Given the description of an element on the screen output the (x, y) to click on. 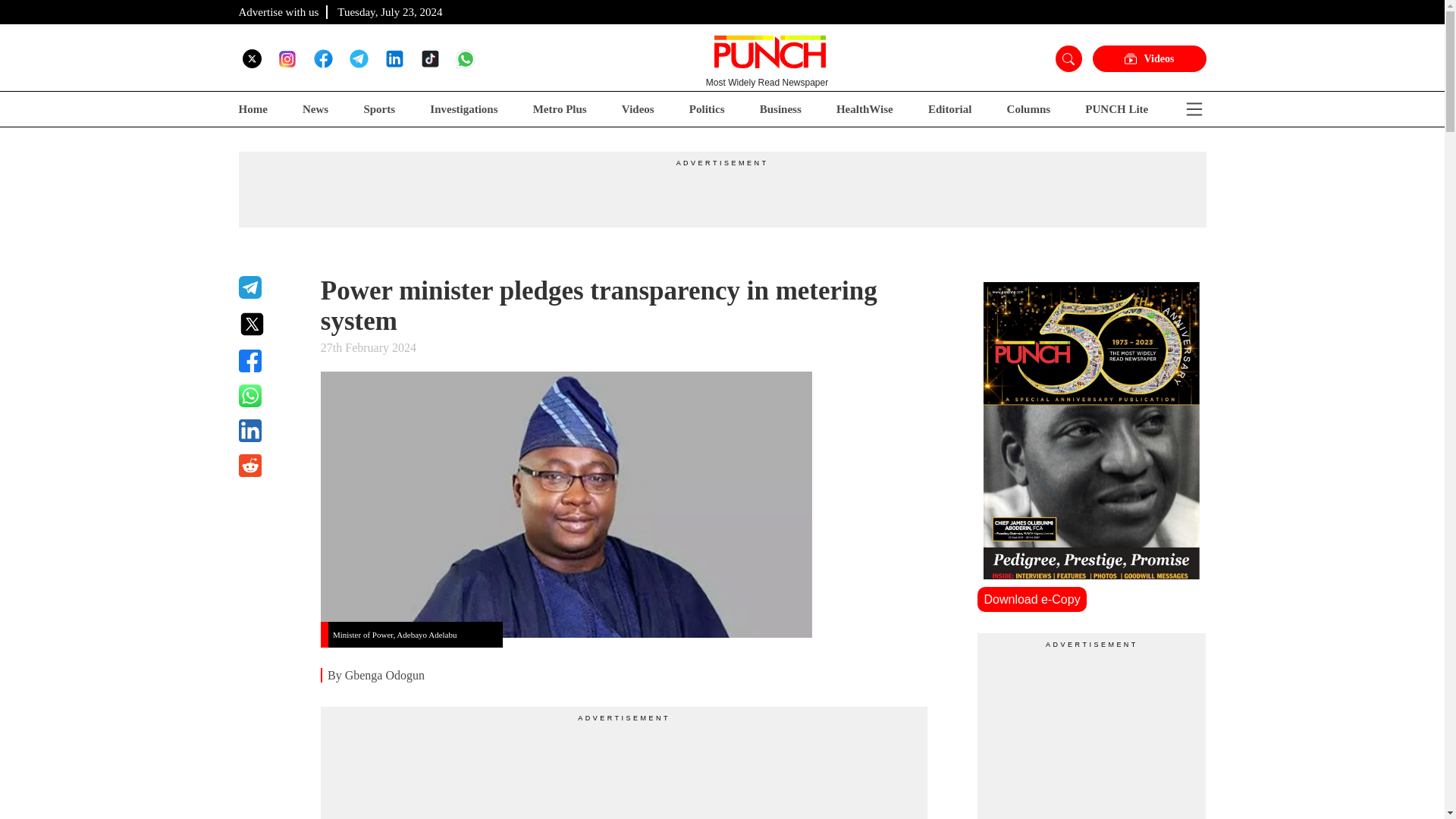
Videos (637, 109)
Share on Reddit (269, 465)
Advertise with us (278, 11)
Share on Facbook (269, 360)
News (315, 109)
Follow Our Channel on Telegram (358, 58)
Follow Us on Instagram (287, 58)
Tuesday, July 23, 2024 (389, 11)
Share on Twitter (269, 324)
Share on Telegram (269, 287)
Business (781, 109)
Investigations (463, 109)
Metro Plus (559, 109)
Follow Us on Facebook (323, 58)
Videos (1148, 58)
